Given the description of an element on the screen output the (x, y) to click on. 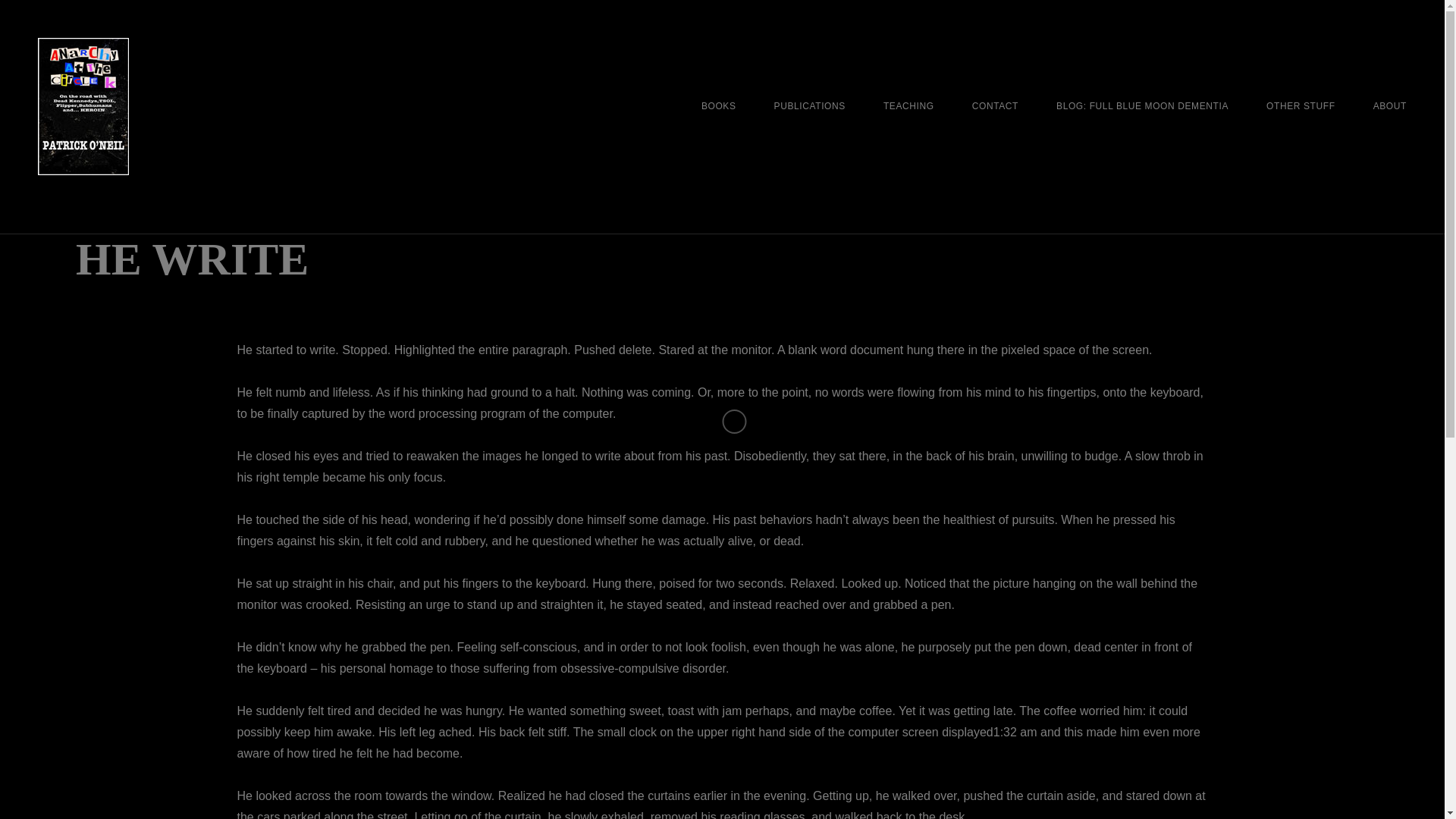
OTHER STUFF (1300, 106)
TEACHING (908, 106)
BOOKS (718, 106)
PUBLICATIONS (809, 106)
ABOUT (1389, 106)
CONTACT (994, 106)
BLOG: FULL BLUE MOON DEMENTIA (1142, 106)
